Given the description of an element on the screen output the (x, y) to click on. 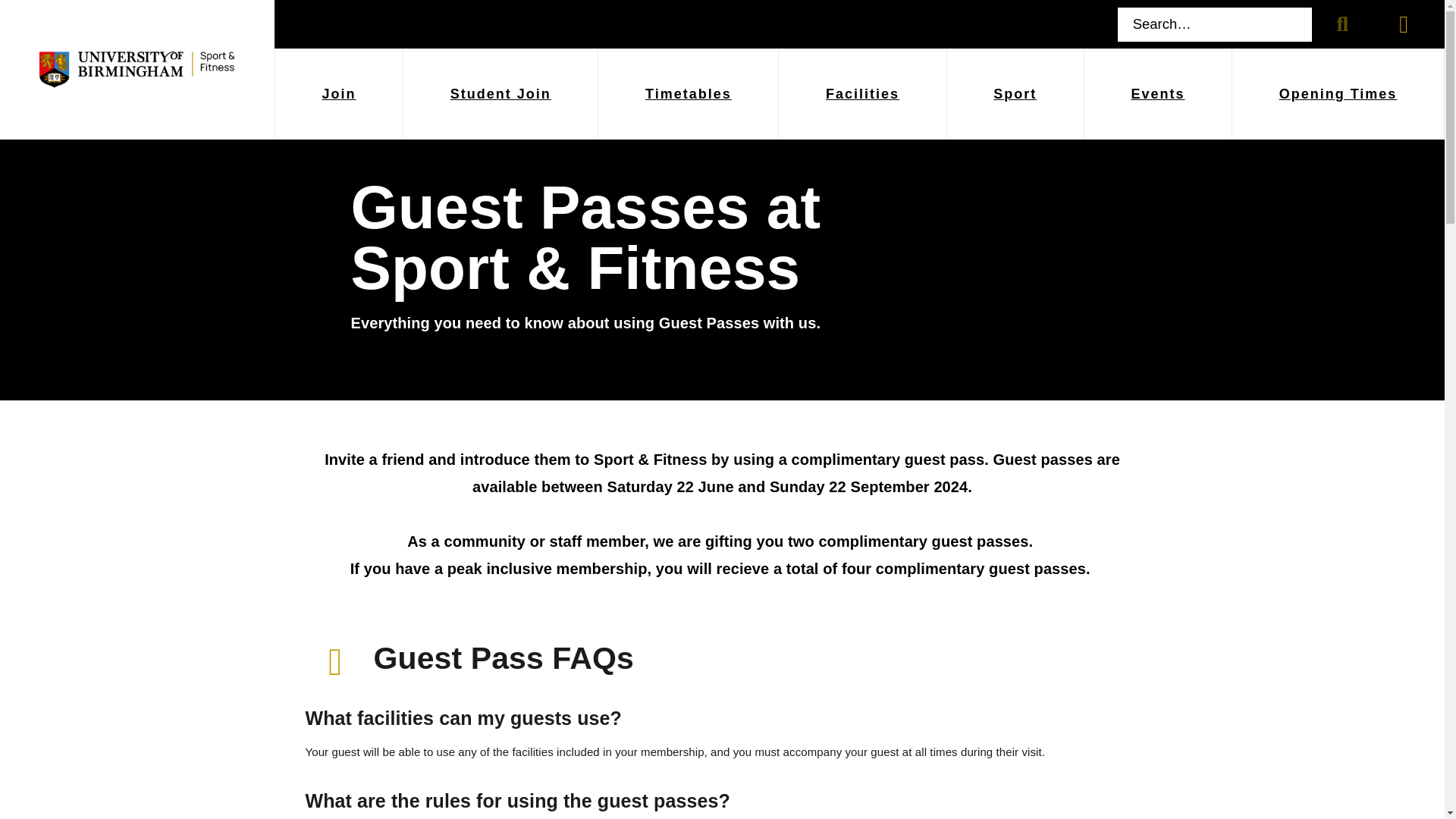
Sport (1015, 93)
Facilities (861, 93)
Student Join (499, 93)
Timetables (687, 93)
Events (1157, 93)
Join (339, 93)
Opening Times (1337, 93)
